Given the description of an element on the screen output the (x, y) to click on. 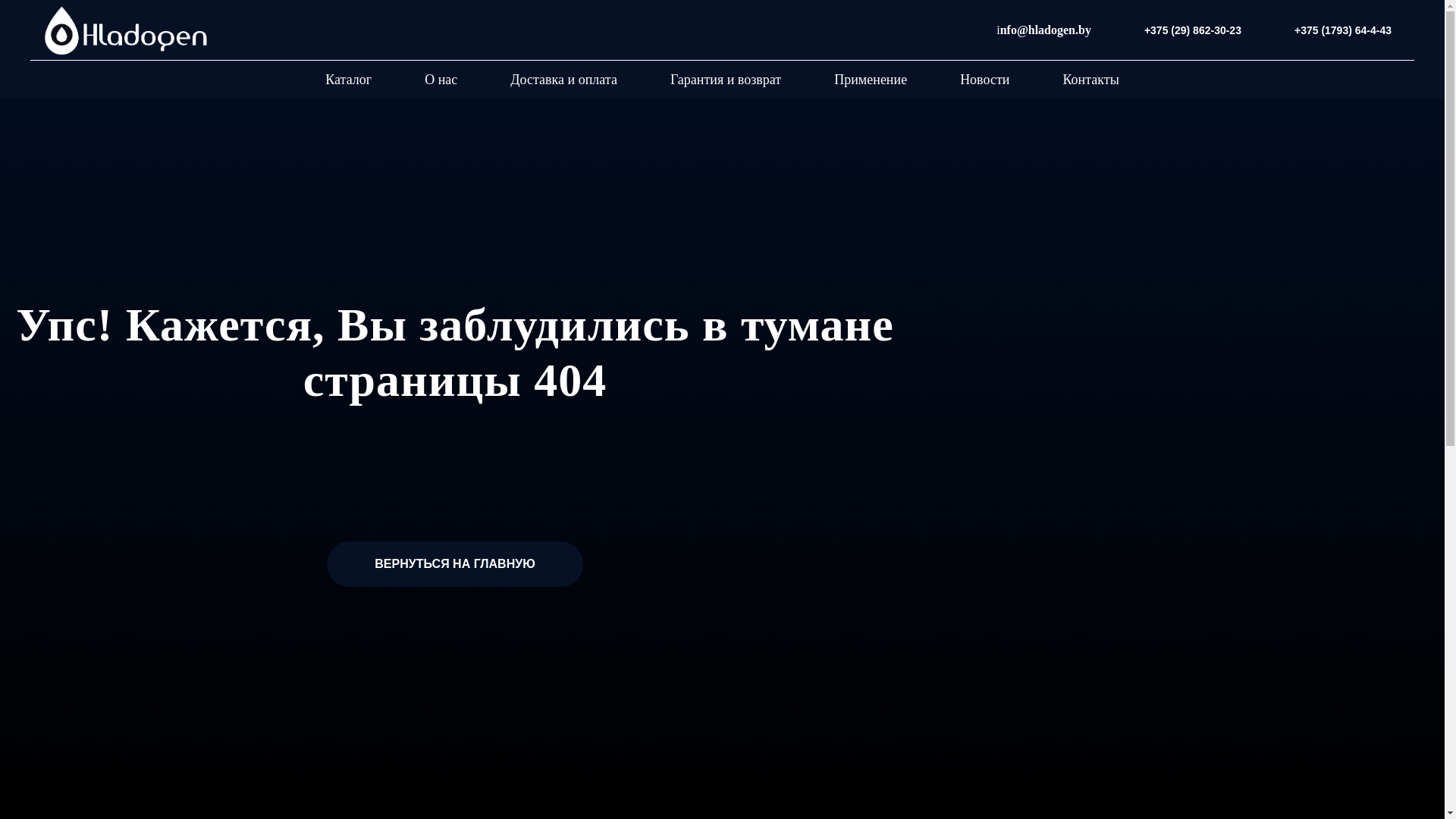
+375 (29) 862-30-23 Element type: text (1192, 30)
nfo@hladogen.by Element type: text (1045, 29)
i Element type: text (997, 29)
+375 (1793) 64-4-43 Element type: text (1342, 30)
